Given the description of an element on the screen output the (x, y) to click on. 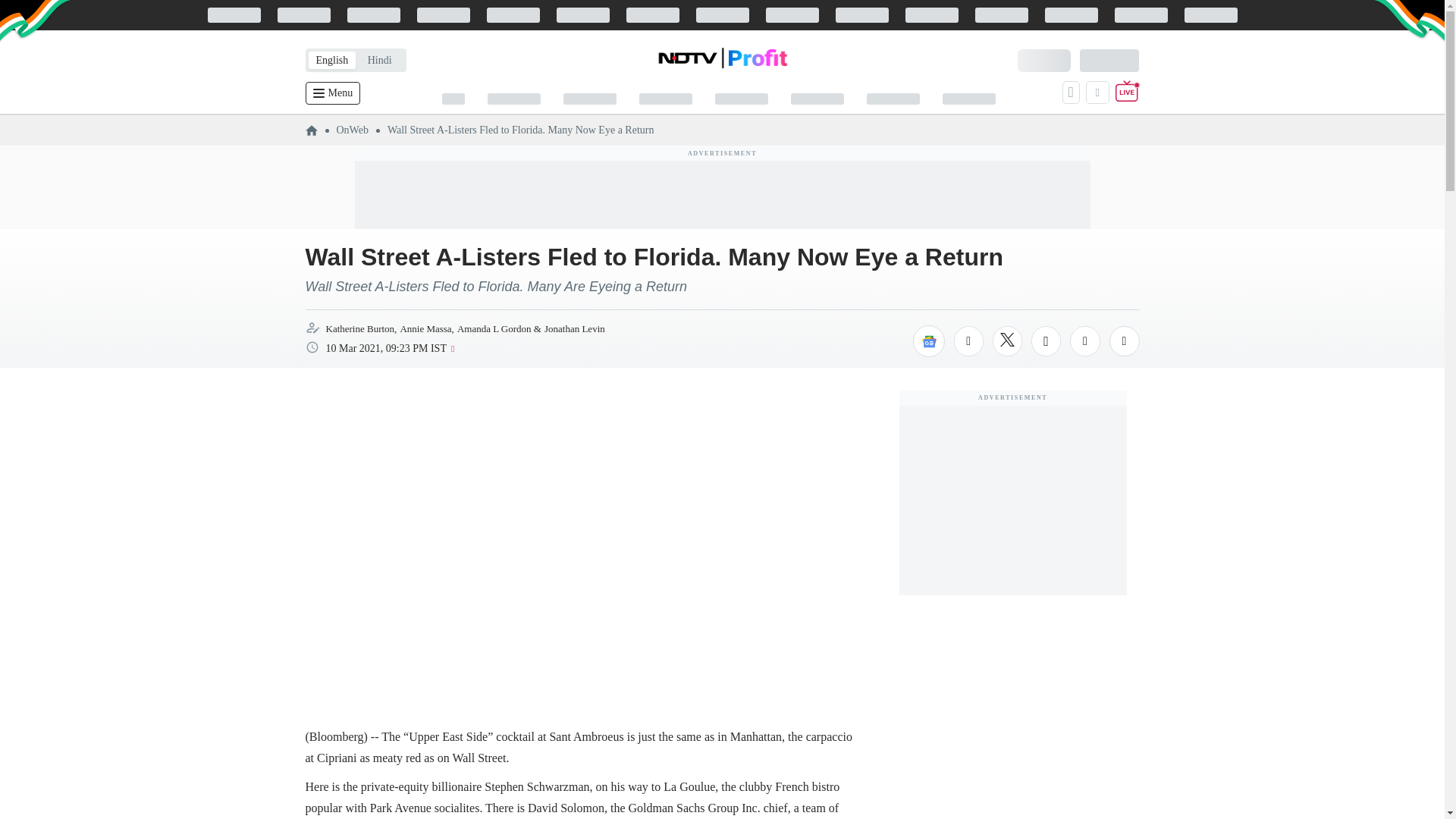
Hindi (379, 59)
English (331, 59)
Menu (331, 92)
Live TV (1127, 92)
Hindi (378, 59)
